Given the description of an element on the screen output the (x, y) to click on. 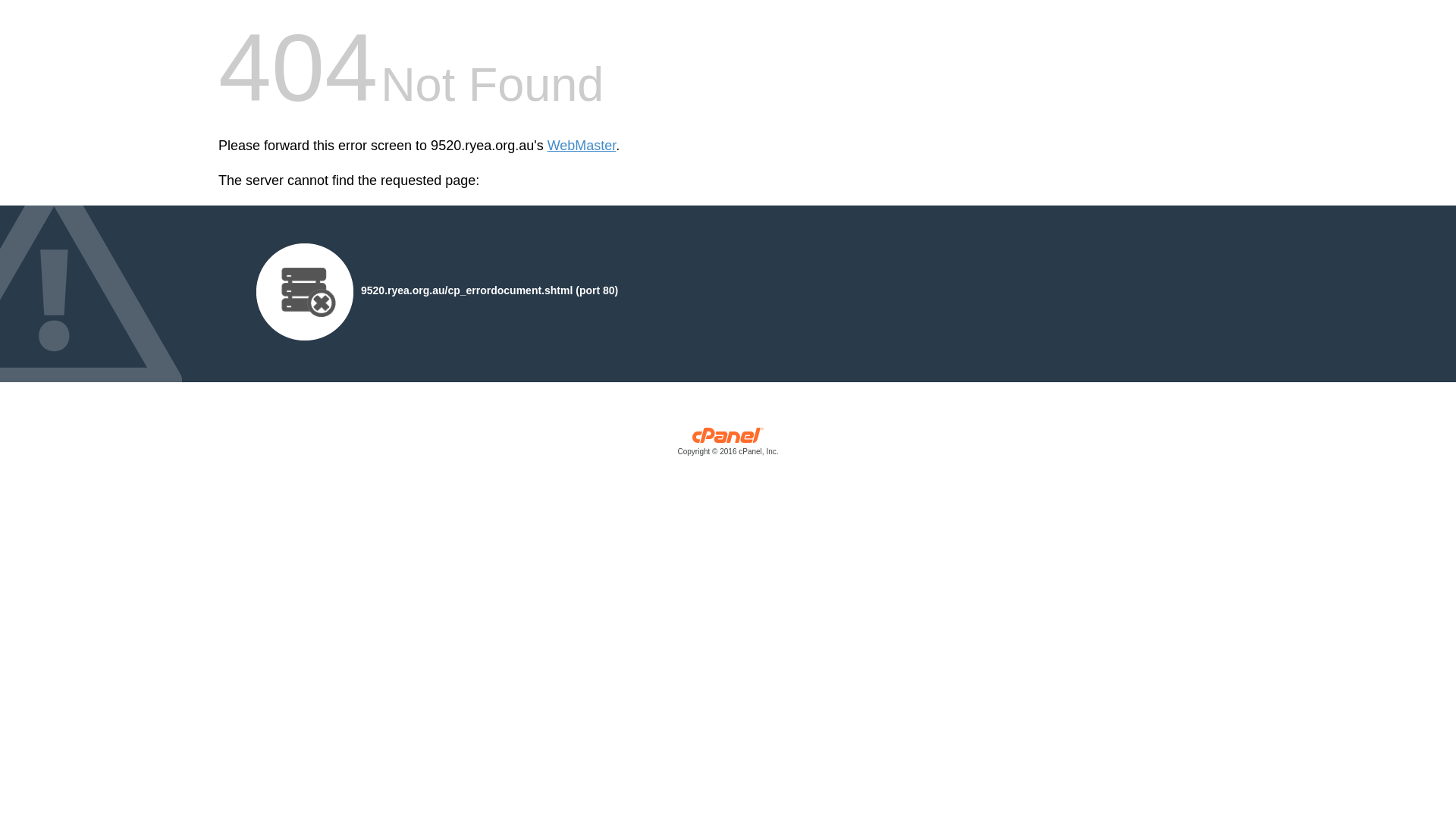
WebMaster Element type: text (581, 145)
